Given the description of an element on the screen output the (x, y) to click on. 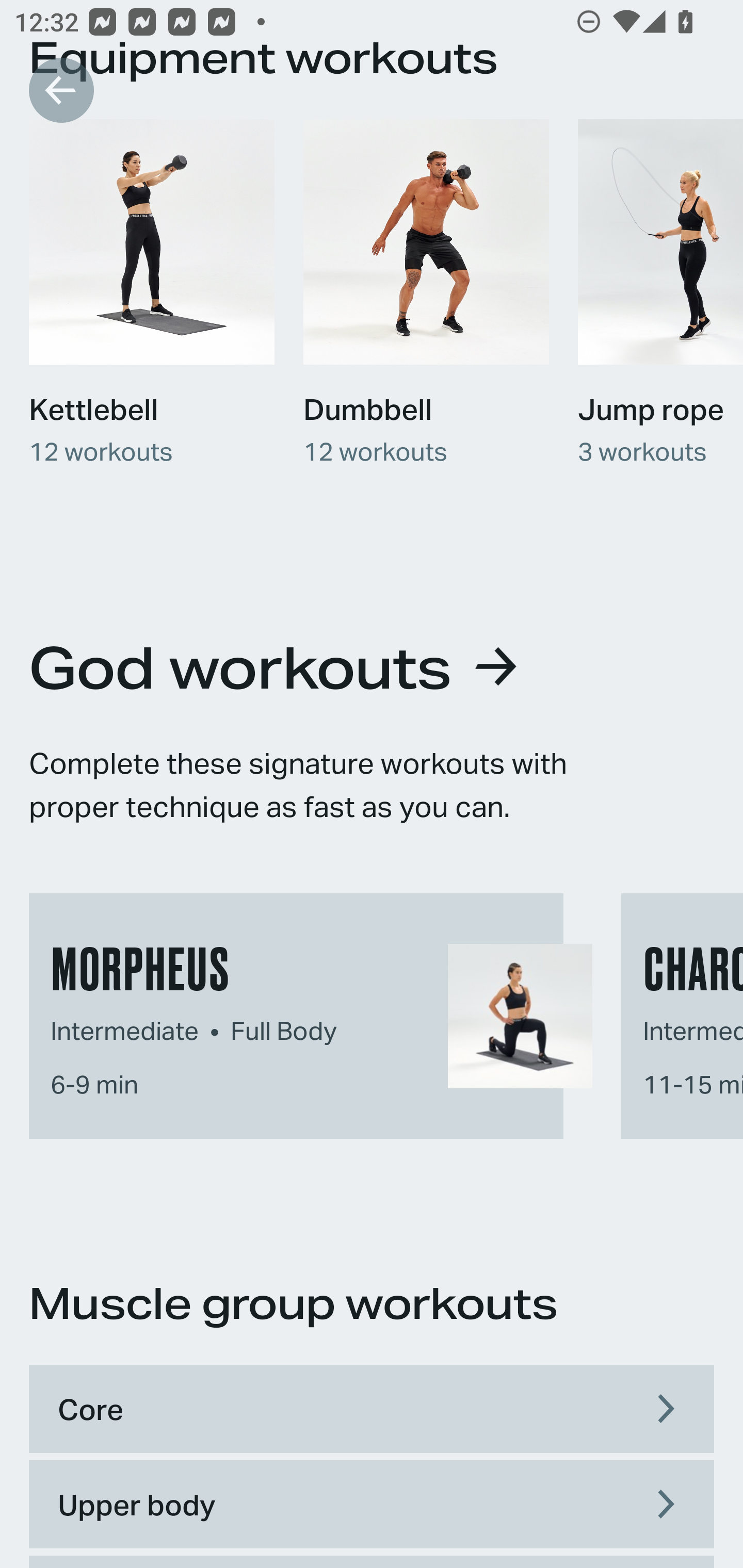
Go back (60, 90)
Kettlebell 12 workouts (151, 291)
Dumbbell 12 workouts (426, 291)
Jump rope 3 workouts (653, 291)
MORPHEUS Intermediate  •  Full Body 6-9 min (306, 1011)
Core (371, 1408)
Upper body (371, 1504)
